Given the description of an element on the screen output the (x, y) to click on. 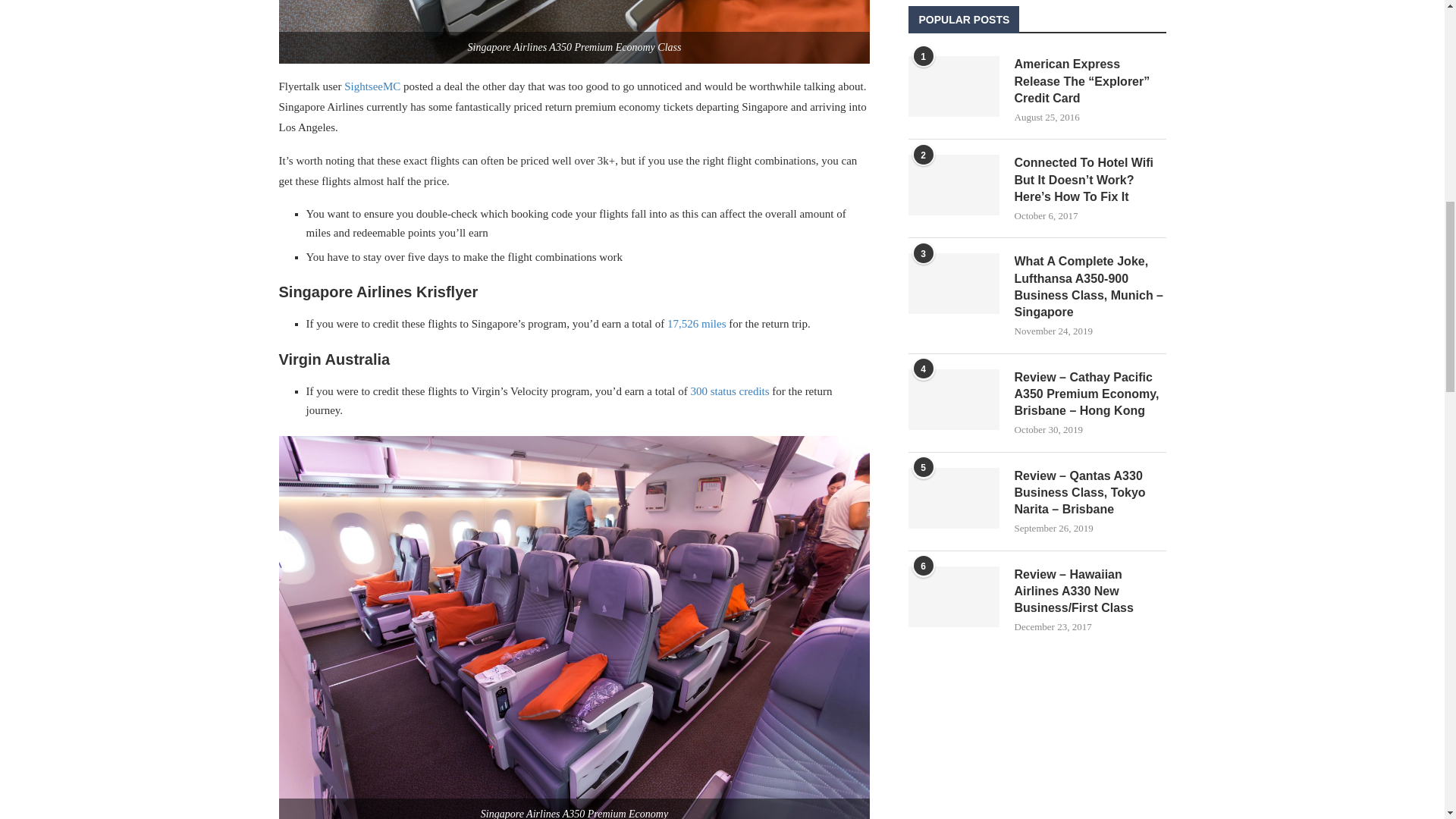
300 status credits (729, 390)
17,526 miles (696, 323)
SightseeMC (371, 86)
